Given the description of an element on the screen output the (x, y) to click on. 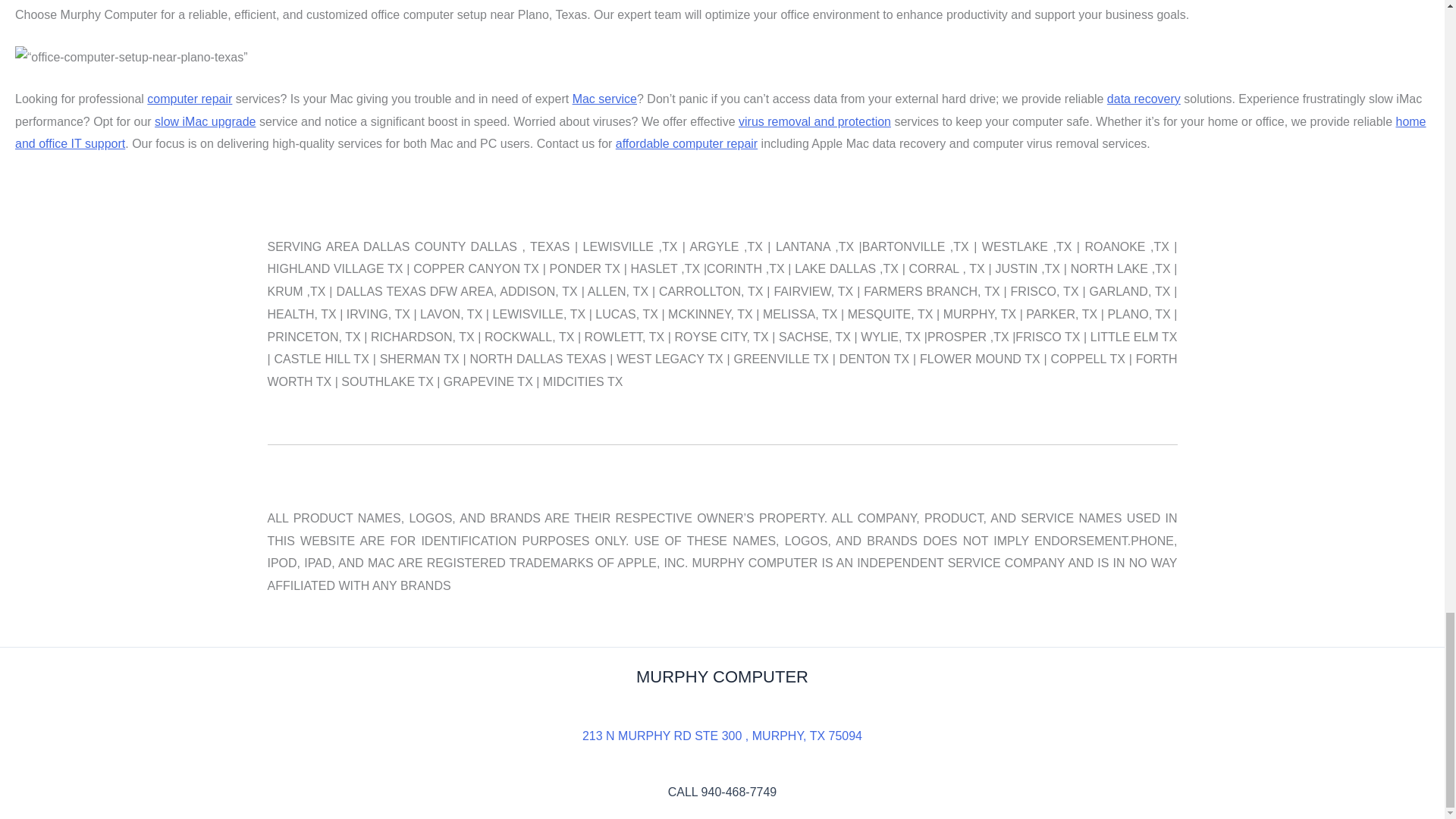
computer repair (189, 98)
213 N MURPHY RD STE 300 , MURPHY, TX 75094 (721, 735)
Mac service (604, 98)
data recovery (1143, 98)
affordable computer repair (686, 143)
home and office IT support (720, 132)
slow iMac upgrade (205, 121)
virus removal and protection (814, 121)
